Given the description of an element on the screen output the (x, y) to click on. 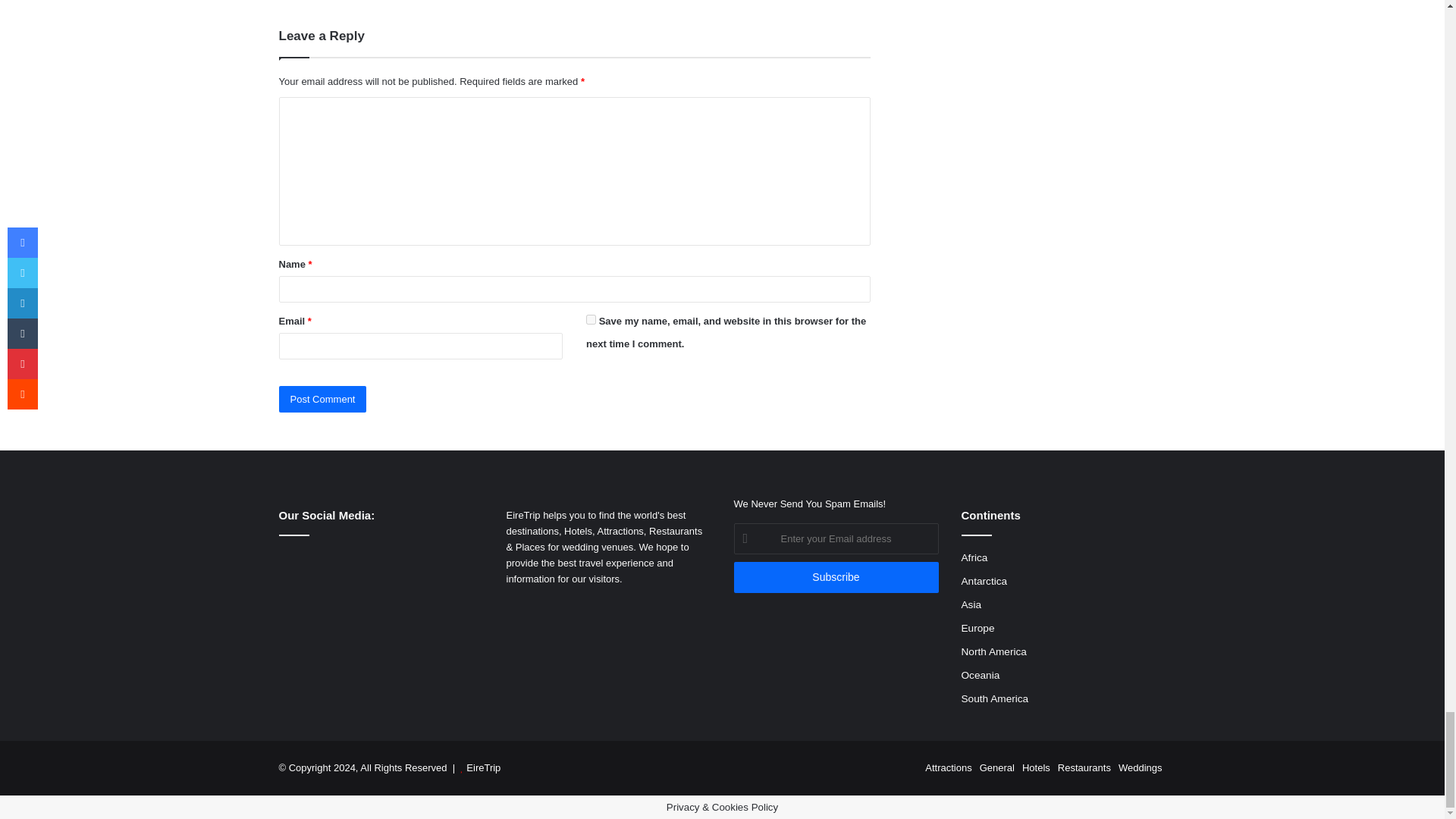
yes (590, 319)
Subscribe (836, 576)
Post Comment (322, 398)
